Given the description of an element on the screen output the (x, y) to click on. 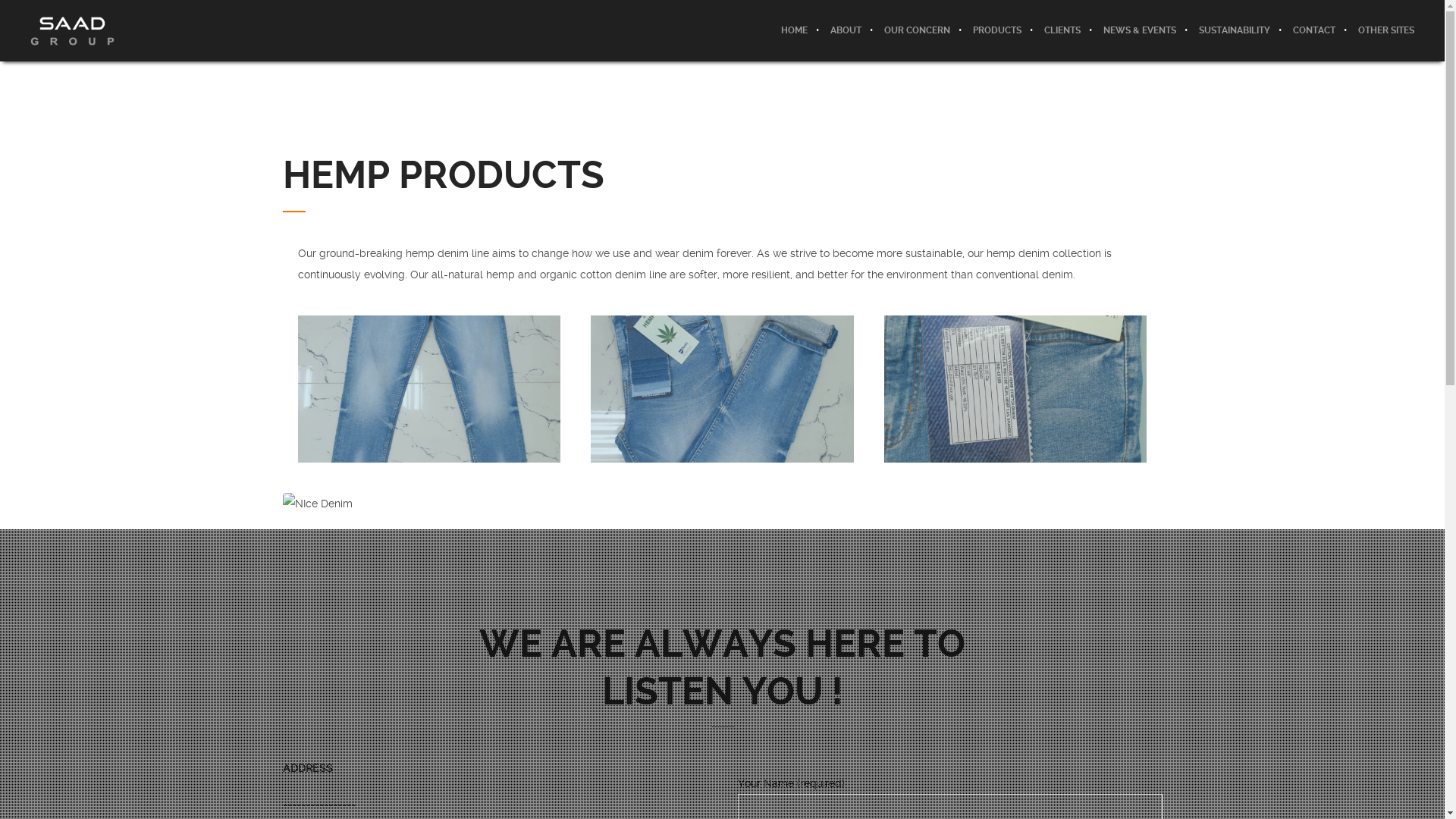
ABOUT Element type: text (845, 30)
CLIENTS Element type: text (1062, 30)
NEWS & EVENTS Element type: text (1139, 30)
OUR CONCERN Element type: text (916, 30)
CONTACT Element type: text (1313, 30)
SUSTAINABILITY Element type: text (1234, 30)
OTHER SITES Element type: text (1380, 30)
HOME Element type: text (794, 30)
PRODUCTS Element type: text (996, 30)
